Given the description of an element on the screen output the (x, y) to click on. 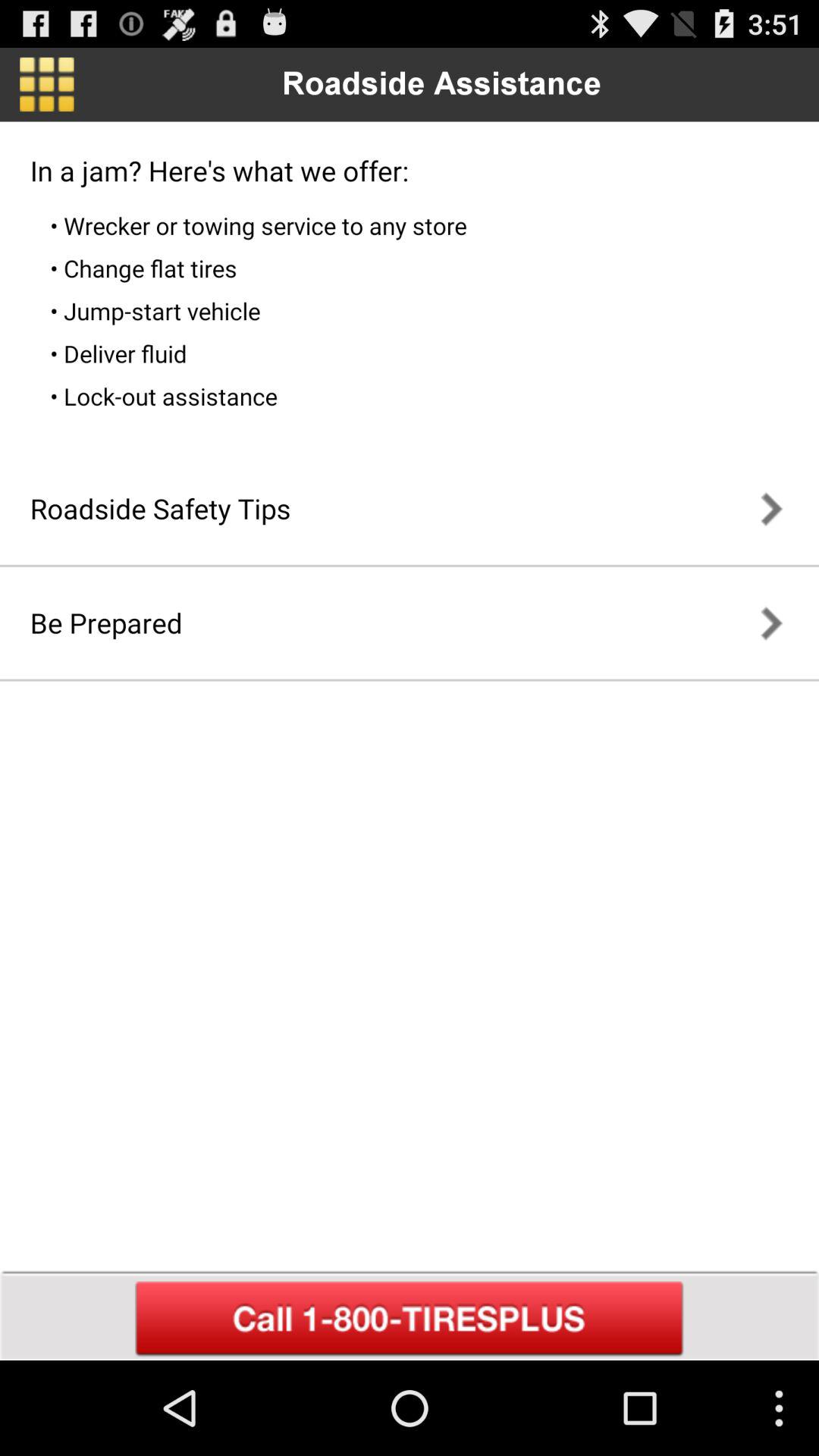
open the app above the in a jam (46, 84)
